Given the description of an element on the screen output the (x, y) to click on. 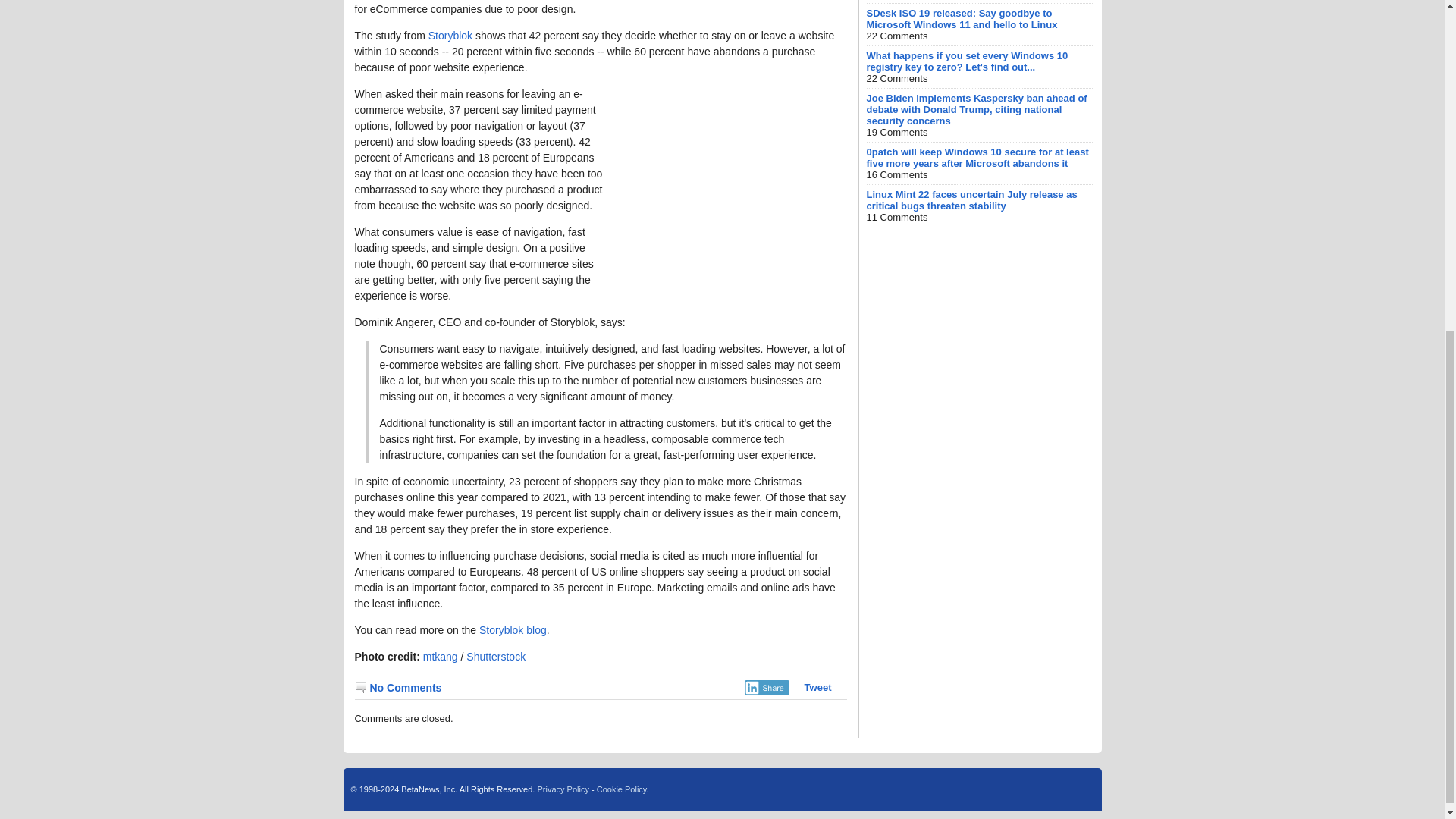
Storyblok (449, 35)
Share (766, 687)
Shutterstock (495, 656)
Advertisement (731, 181)
Tweet (818, 686)
No Comments (398, 687)
Storyblok blog (513, 630)
mtkang (440, 656)
